Given the description of an element on the screen output the (x, y) to click on. 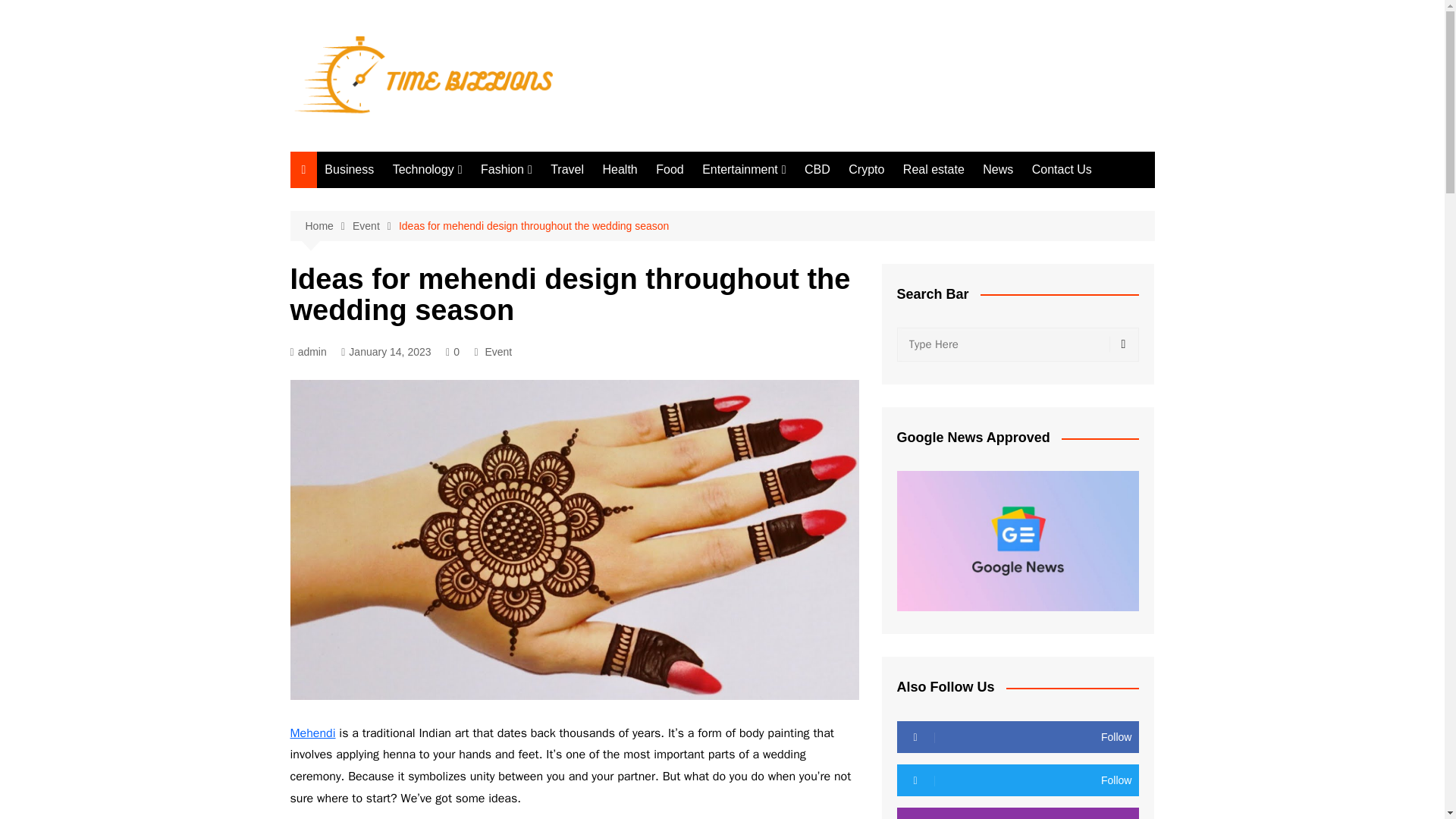
Web development (468, 225)
lifestyle (556, 200)
Health (619, 169)
admin (307, 352)
Movie and serial (777, 200)
Event (498, 351)
Business (349, 169)
Fashion (506, 169)
Event (375, 226)
Real estate (933, 169)
